Given the description of an element on the screen output the (x, y) to click on. 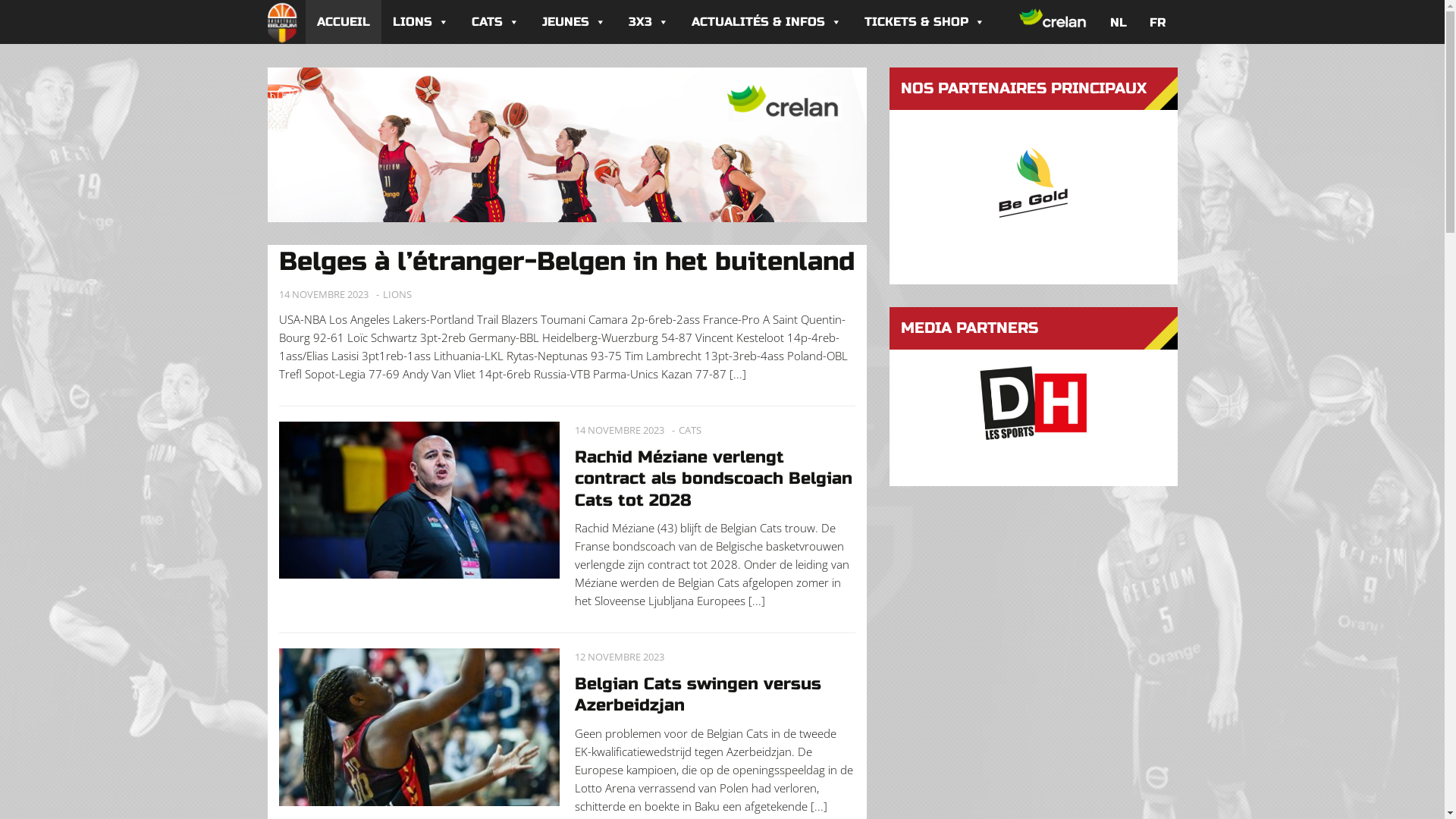
LIONS Element type: text (419, 21)
NL Element type: text (1118, 21)
FR Element type: text (1157, 21)
be gold logo 300x300 Element type: hover (1033, 181)
JEUNES Element type: text (573, 21)
LIONS Element type: text (396, 294)
CATS Element type: text (494, 21)
ACCUEIL Element type: text (342, 21)
DHpt Element type: hover (1032, 402)
Crelan Partner Element type: hover (566, 143)
TICKETS & SHOP Element type: text (923, 21)
Belgian Cats swingen versus Azerbeidzjan Element type: text (697, 694)
3X3 Element type: text (648, 21)
CATS Element type: text (688, 429)
